Given the description of an element on the screen output the (x, y) to click on. 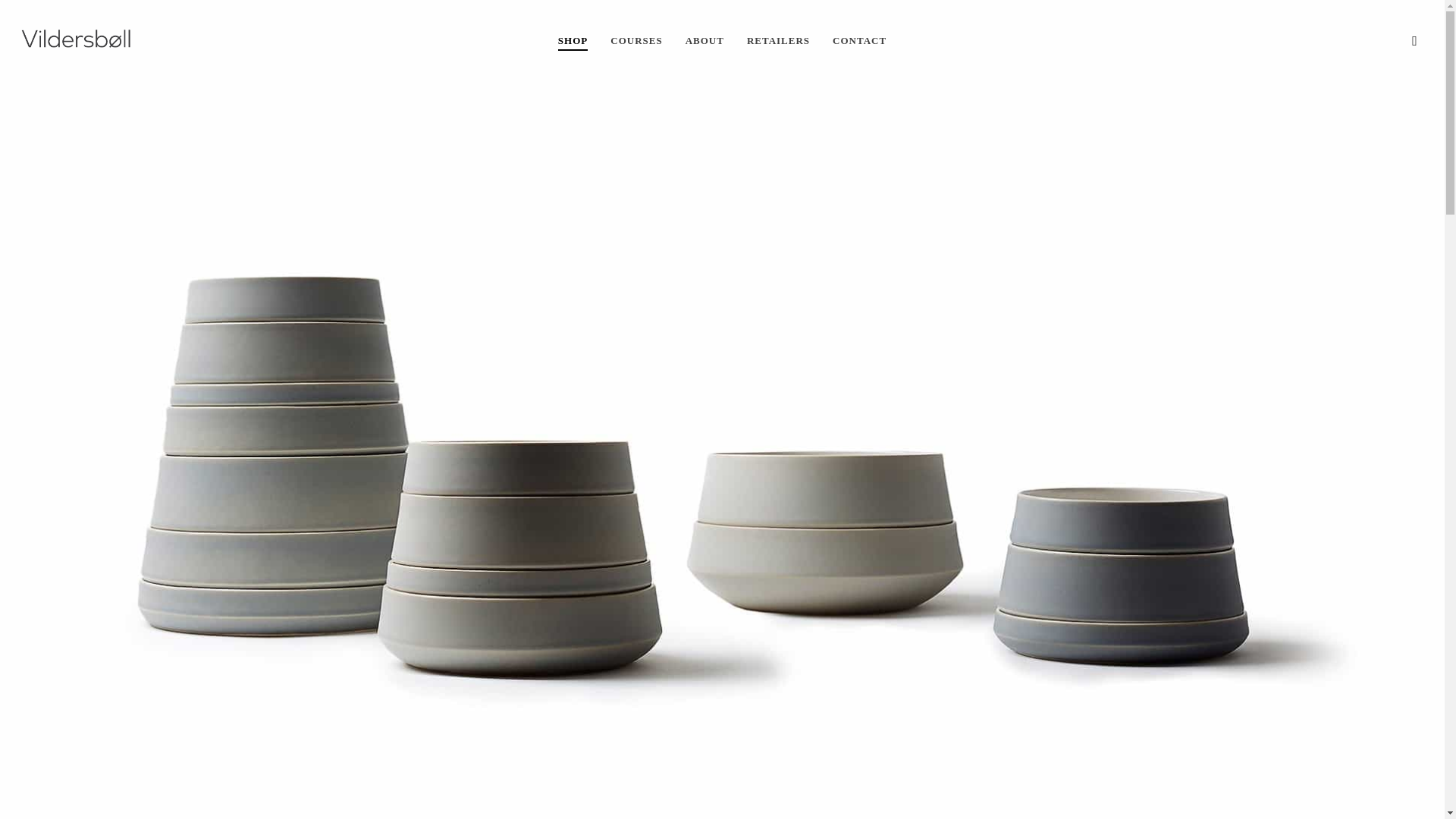
COURSES (636, 40)
RETAILERS (777, 40)
SHOP (572, 40)
CONTACT (859, 40)
ABOUT (704, 40)
